Given the description of an element on the screen output the (x, y) to click on. 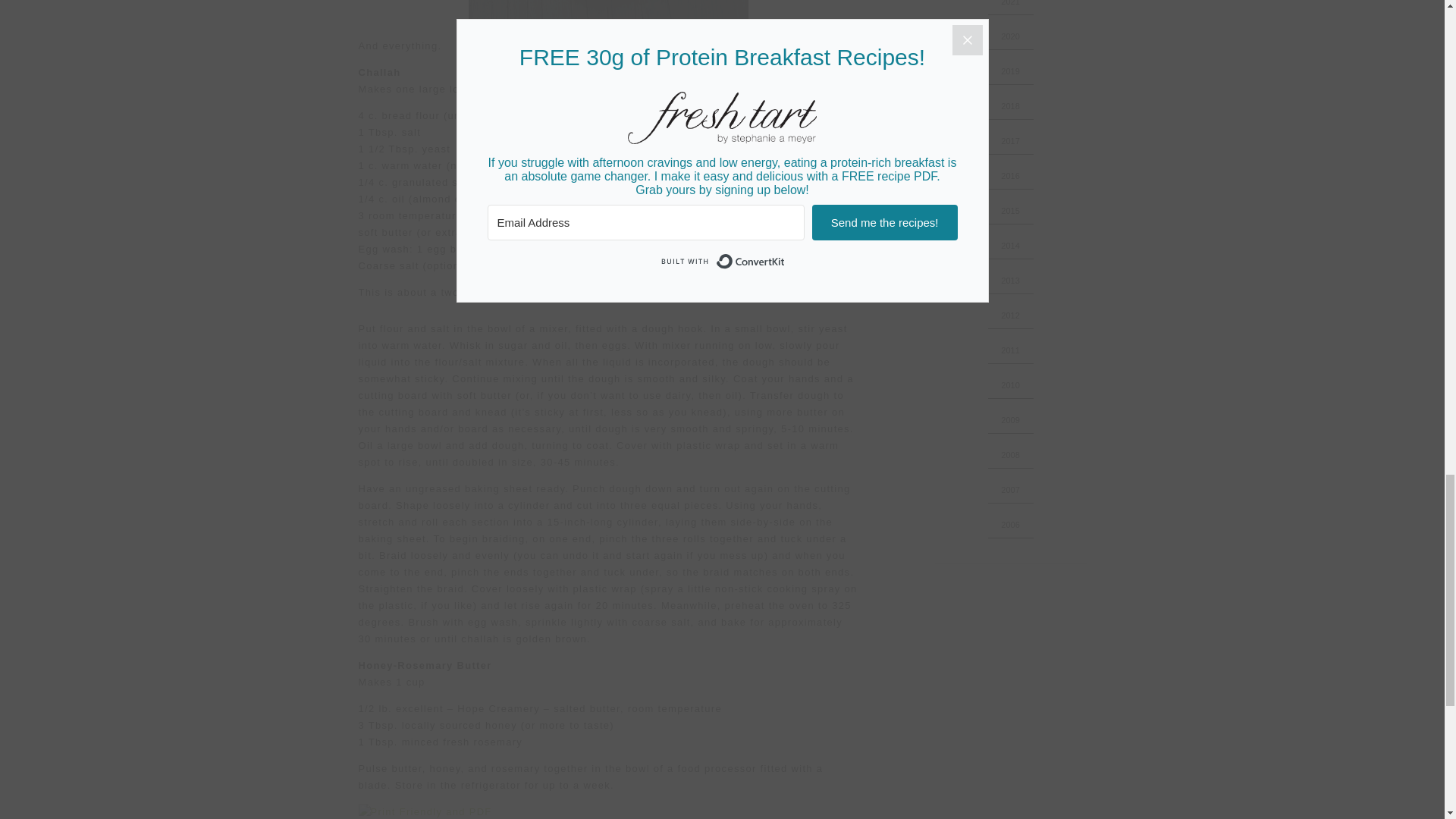
honey-rosemary butter (608, 13)
Printer Friendly and PDF (608, 811)
